Given the description of an element on the screen output the (x, y) to click on. 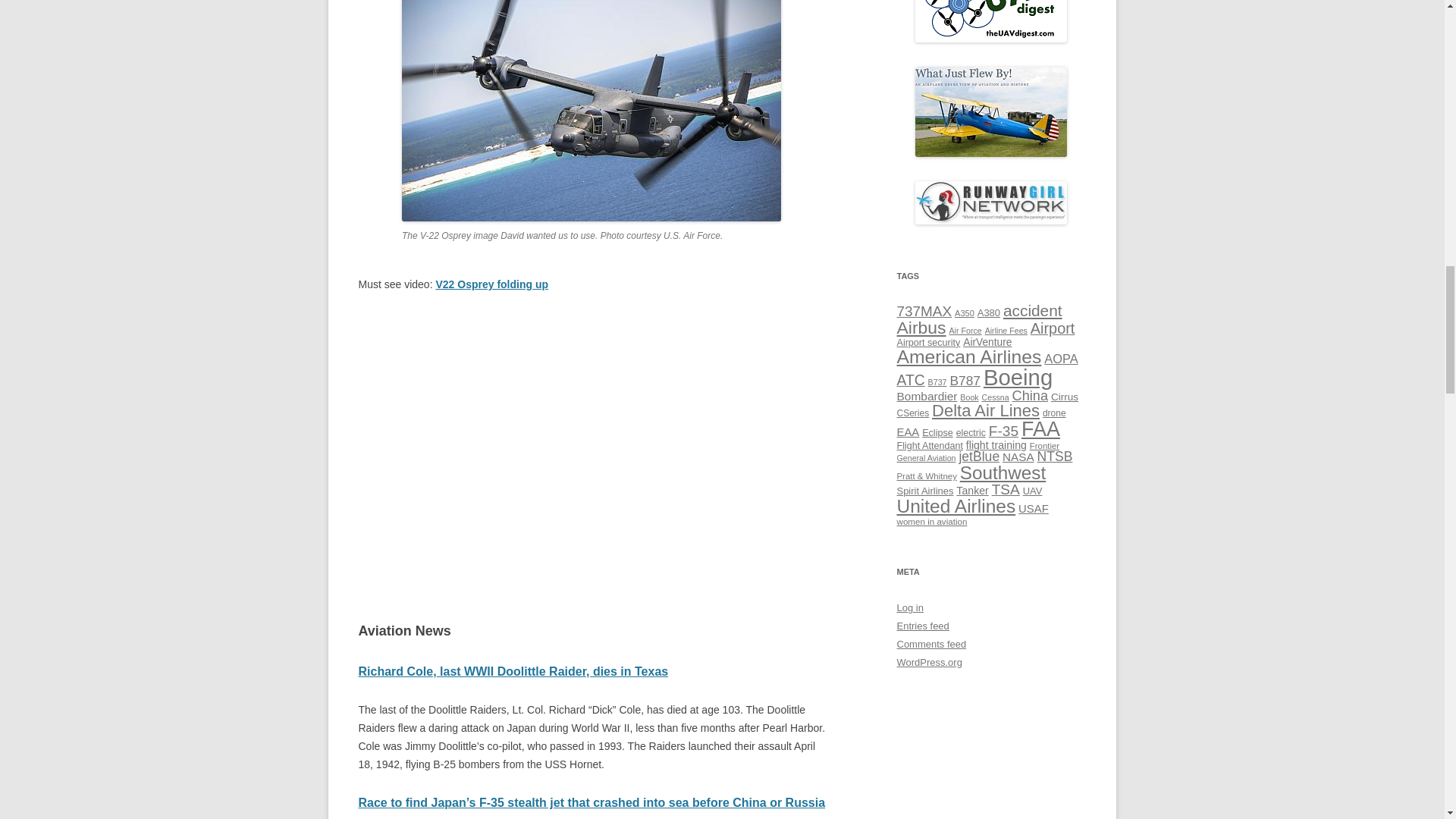
Richard Cole, last WWII Doolittle Raider, dies in Texas (513, 671)
V22 Osprey folding up (594, 445)
V22 Osprey folding up (491, 284)
